Given the description of an element on the screen output the (x, y) to click on. 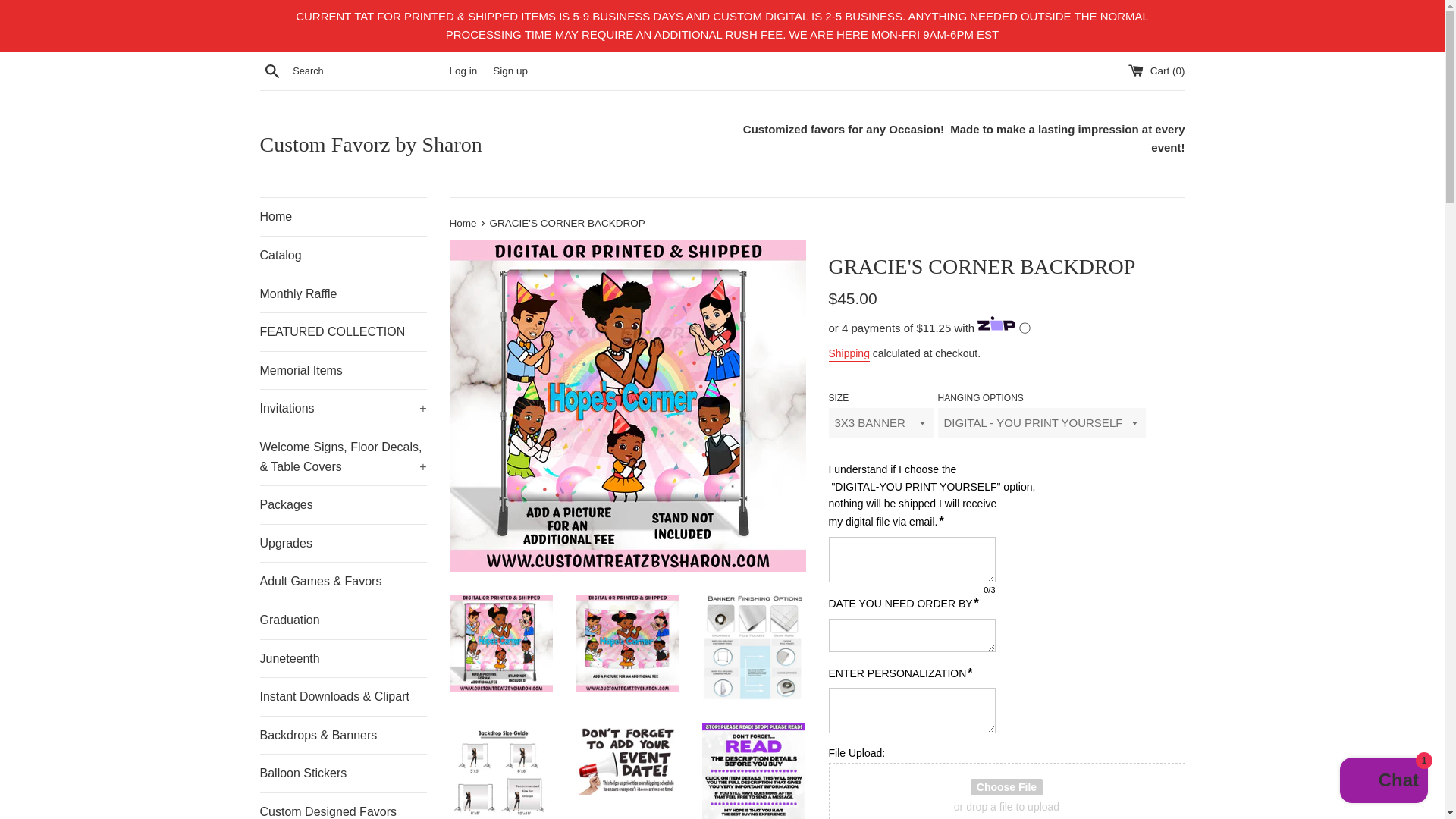
Log in (462, 70)
Home (342, 216)
Balloon Stickers (342, 773)
FEATURED COLLECTION (342, 331)
Shopify online store chat (1383, 781)
Custom Favorz by Sharon (490, 143)
Graduation (342, 620)
Juneteenth (342, 658)
Monthly Raffle (342, 293)
Sign up (510, 70)
Custom Designed Favors (342, 806)
Memorial Items (342, 370)
Search (271, 70)
Back to the frontpage (463, 223)
Upgrades (342, 543)
